Given the description of an element on the screen output the (x, y) to click on. 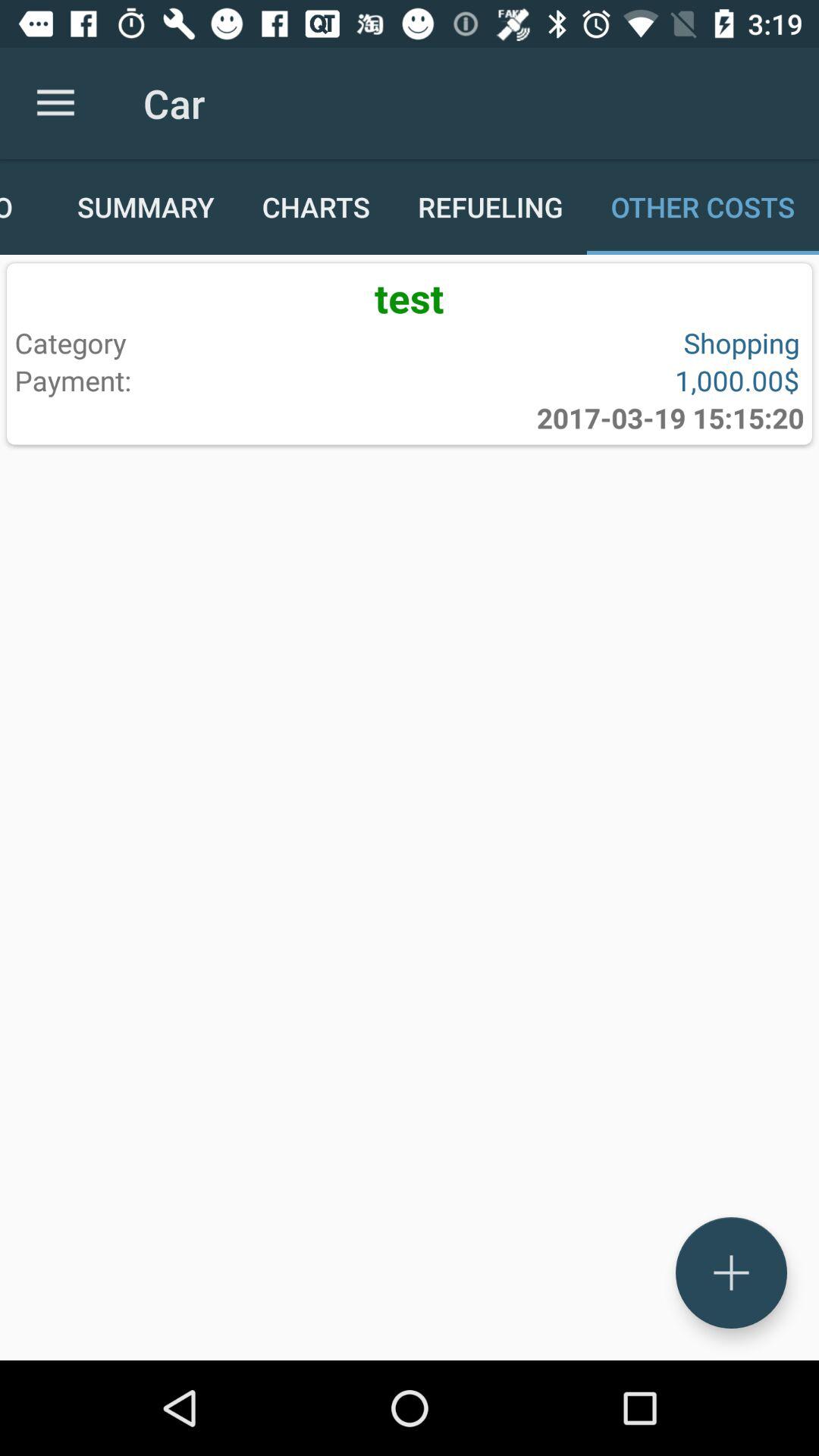
jump to category (208, 342)
